Given the description of an element on the screen output the (x, y) to click on. 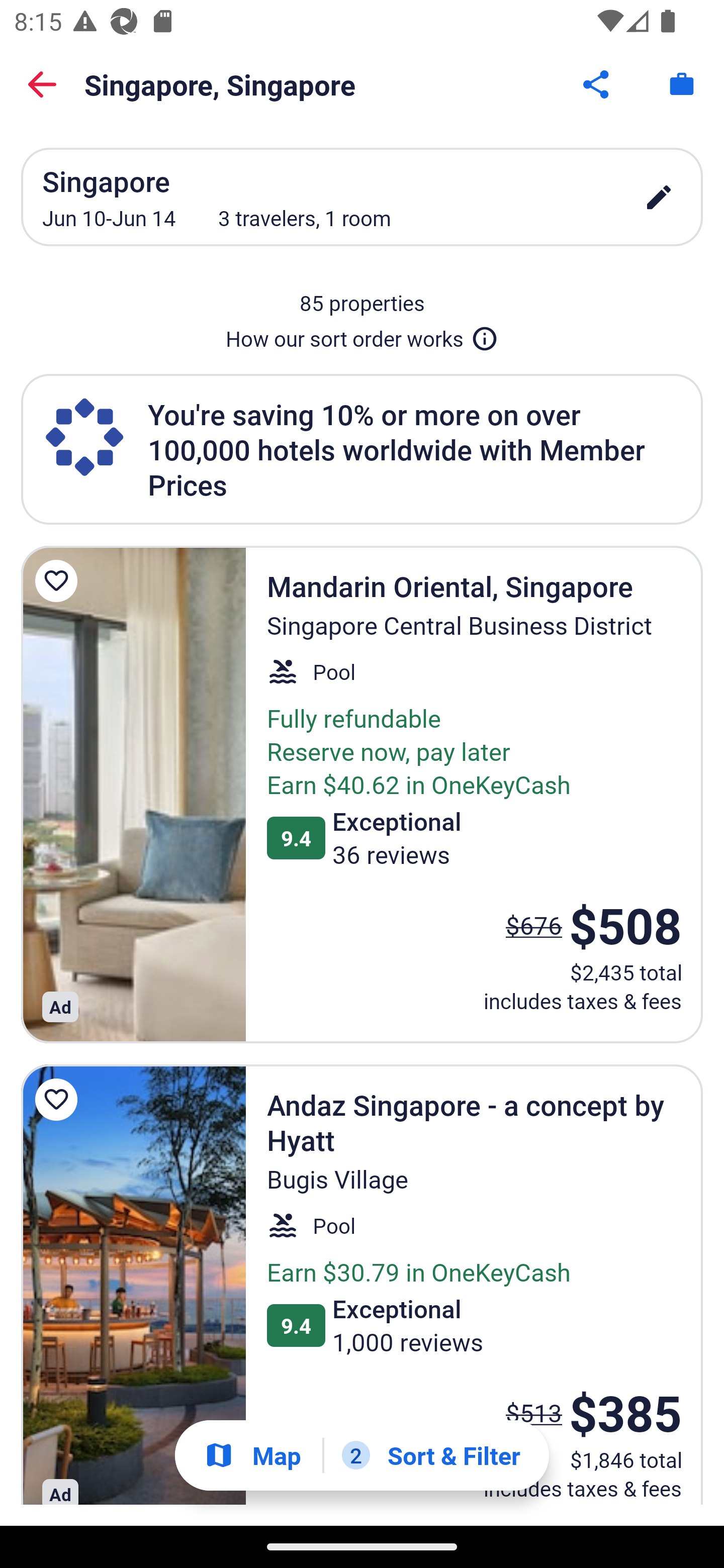
Back (42, 84)
Share Button (597, 84)
Trips. Button (681, 84)
Singapore Jun 10-Jun 14 3 travelers, 1 room edit (361, 196)
How our sort order works (361, 334)
Save Mandarin Oriental, Singapore to a trip (59, 580)
Mandarin Oriental, Singapore (133, 793)
$676 The price was $676 (533, 924)
Andaz Singapore - a concept by Hyatt (133, 1284)
$513 The price was $513 (533, 1412)
2 Sort & Filter 2 Filters applied. Filters Button (430, 1455)
Show map Map Show map Button (252, 1455)
